Given the description of an element on the screen output the (x, y) to click on. 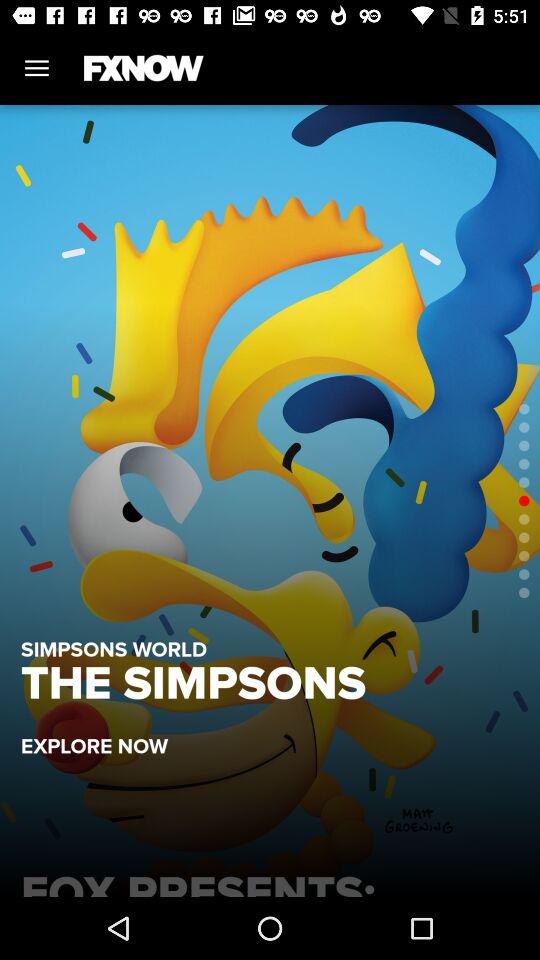
click fox presents: pitch (270, 880)
